Given the description of an element on the screen output the (x, y) to click on. 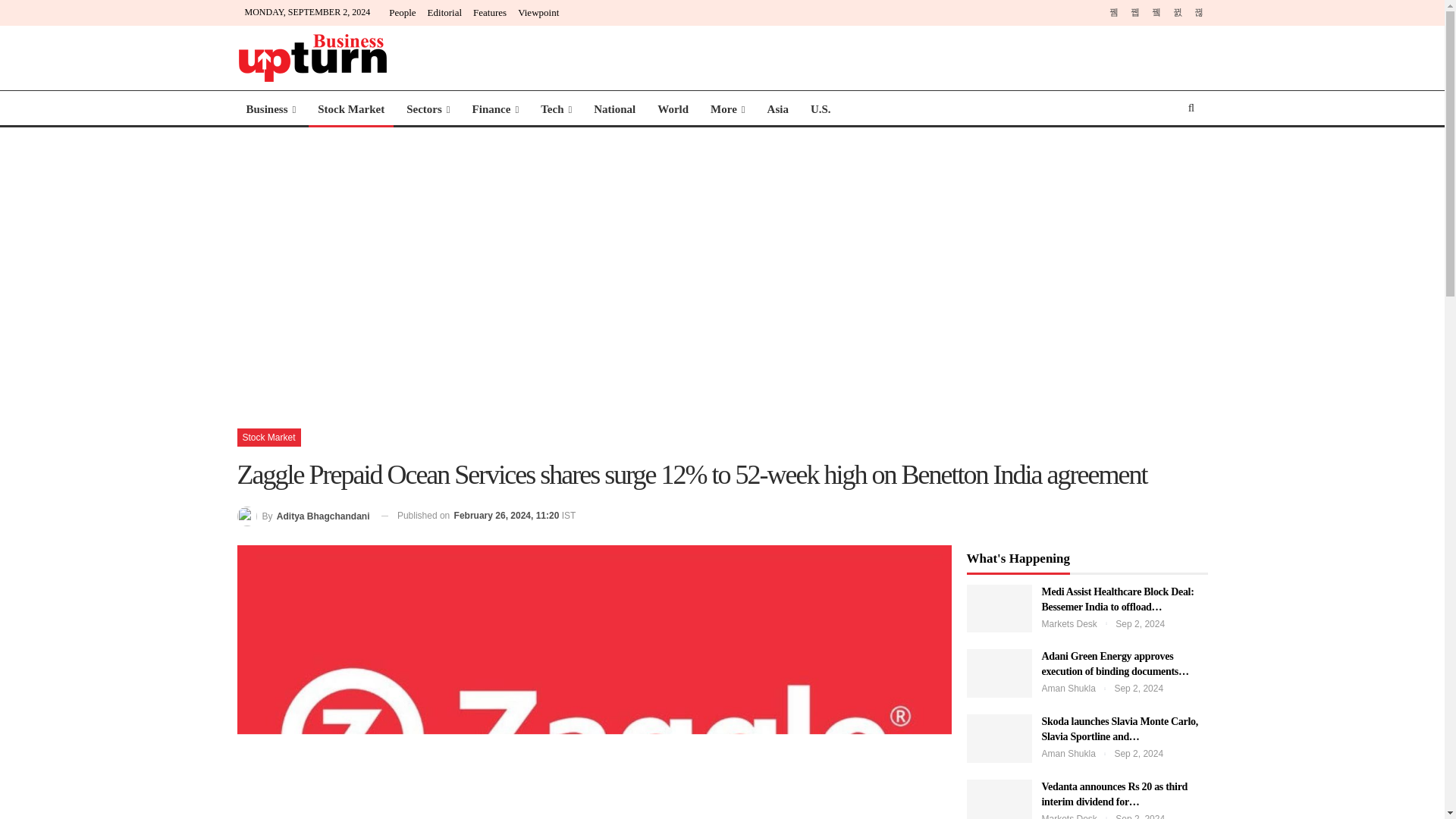
Viewpoint (538, 12)
Sectors (427, 108)
Stock Market (350, 108)
Features (489, 12)
Editorial (445, 12)
People (401, 12)
Business (269, 108)
Finance (495, 108)
Browse Author Articles (302, 516)
